Given the description of an element on the screen output the (x, y) to click on. 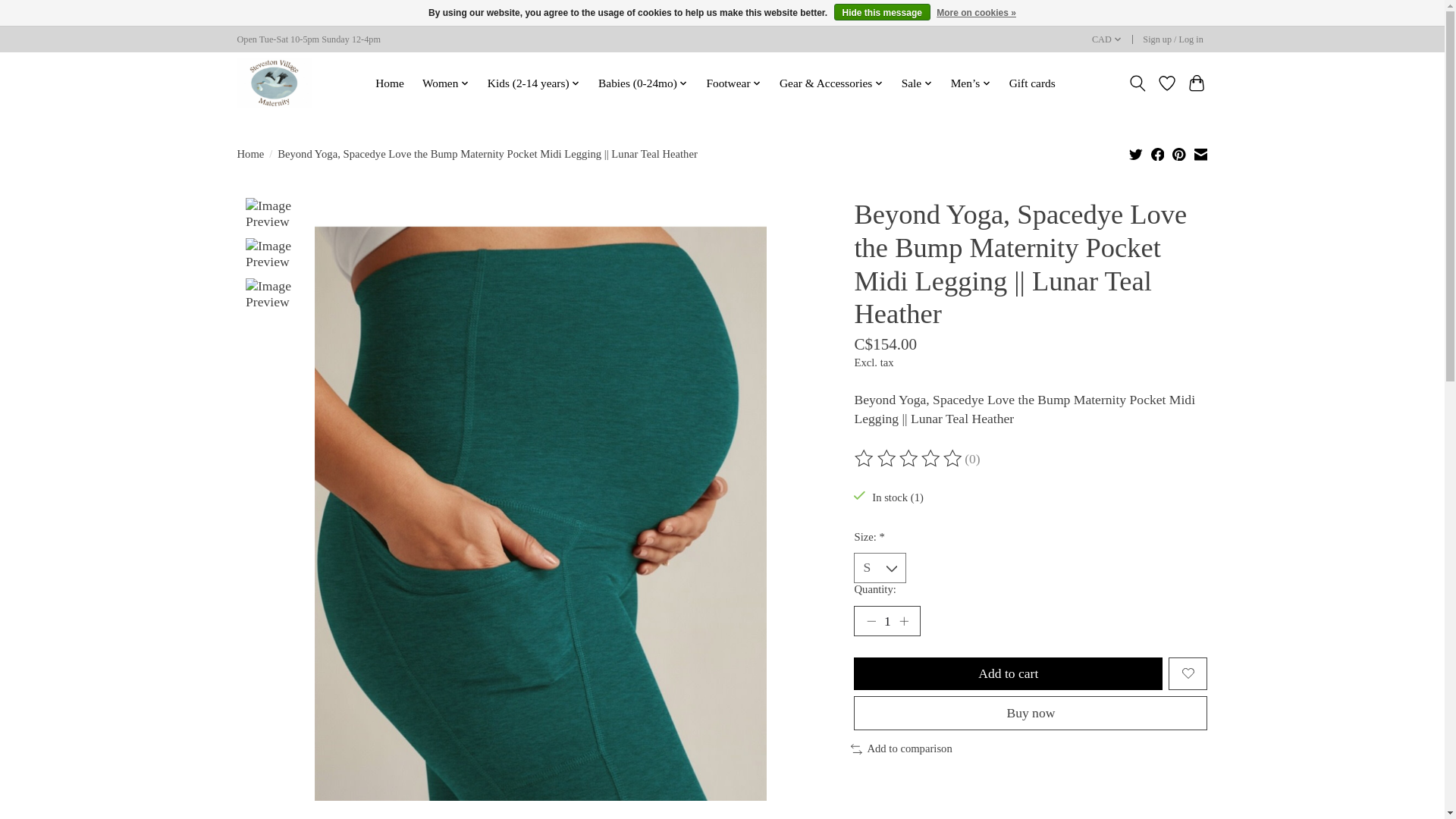
CAD (1106, 39)
Home (389, 83)
1 (886, 621)
Steveston Village Maternity (273, 82)
Women (445, 83)
My account (1173, 39)
